Given the description of an element on the screen output the (x, y) to click on. 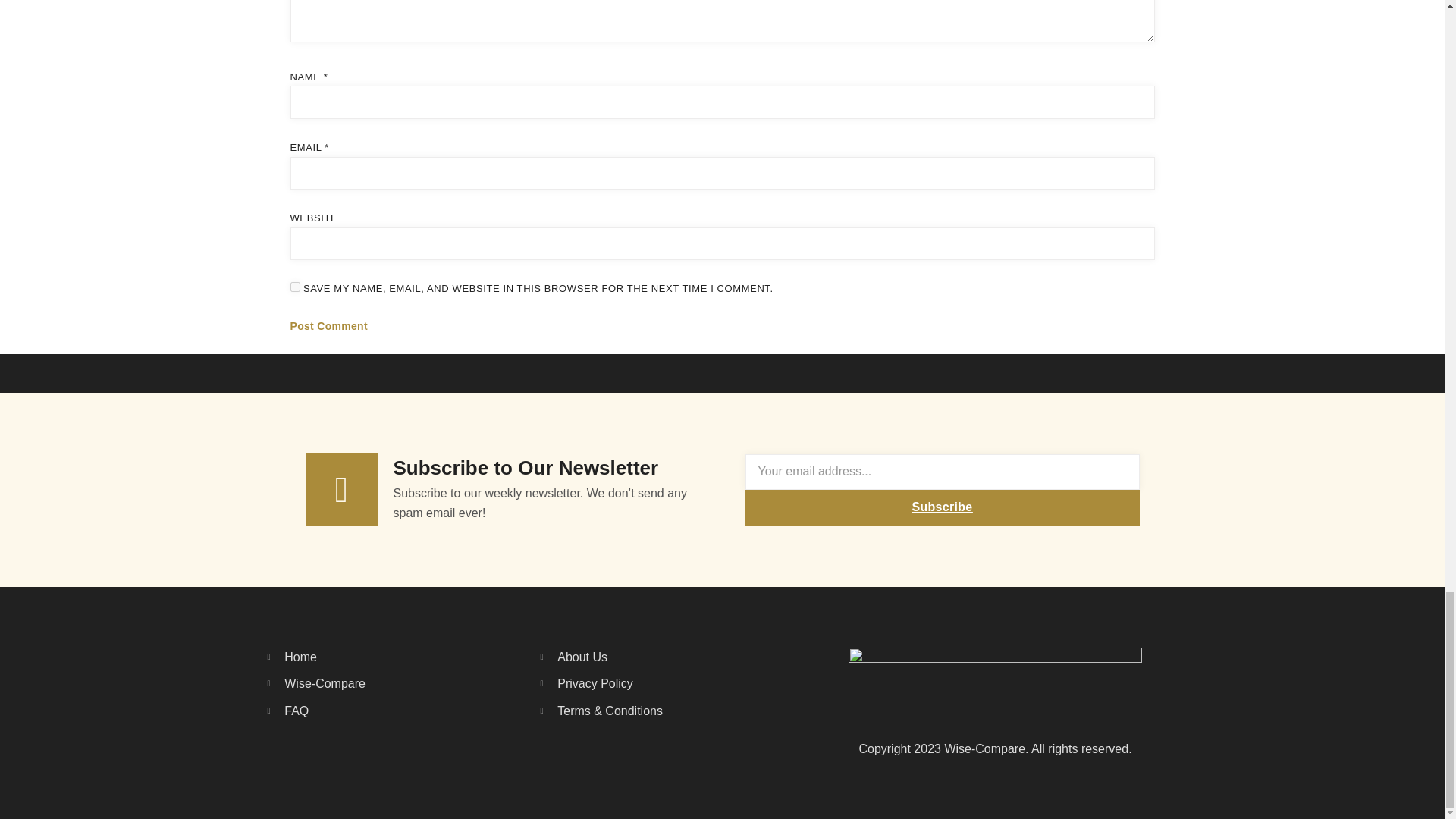
Wise-Compare (357, 683)
FAQ (357, 711)
yes (294, 286)
Subscribe (941, 507)
Privacy Policy (631, 683)
Home (357, 657)
Post Comment (327, 326)
Post Comment (327, 326)
About Us (631, 657)
